Given the description of an element on the screen output the (x, y) to click on. 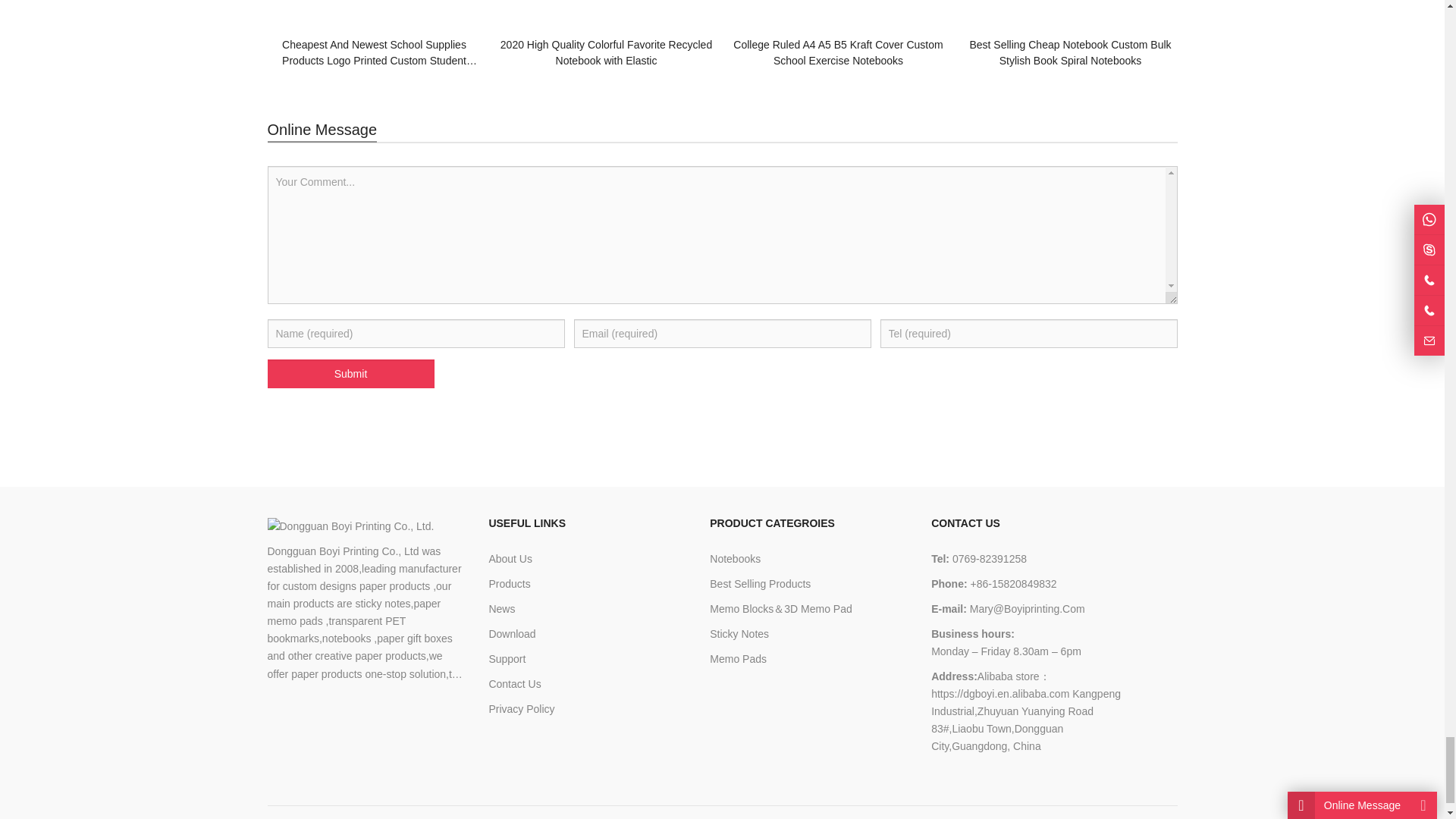
Submit (349, 373)
Products (508, 583)
Support (506, 658)
About Us (509, 558)
Contact Us (513, 684)
Download (511, 633)
